Given the description of an element on the screen output the (x, y) to click on. 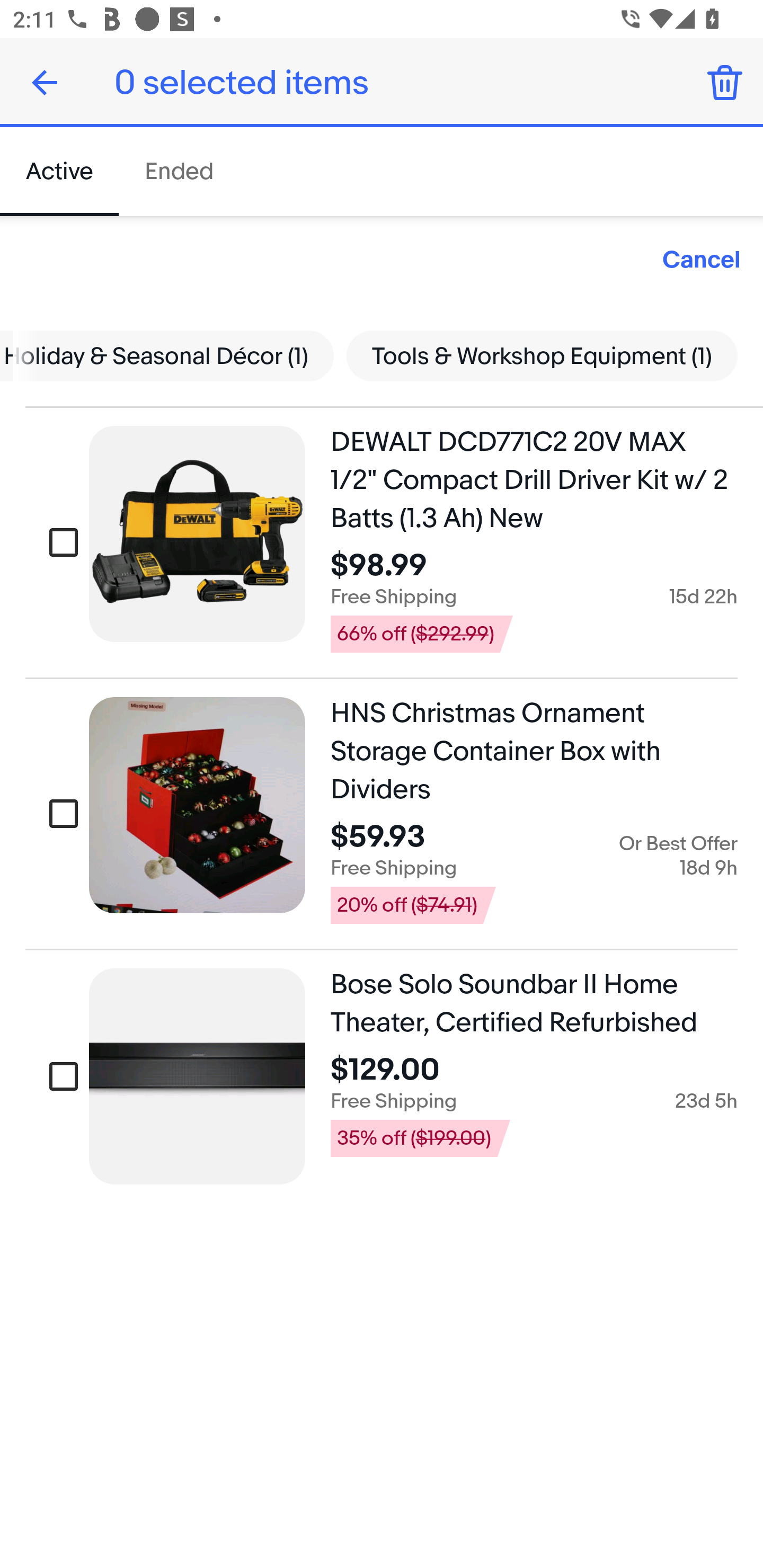
Done (44, 81)
Delete (724, 81)
Ended (178, 171)
Cancel (701, 260)
Holiday & Seasonal Décor (1) (173, 355)
Tools & Workshop Equipment (1) (541, 355)
